Given the description of an element on the screen output the (x, y) to click on. 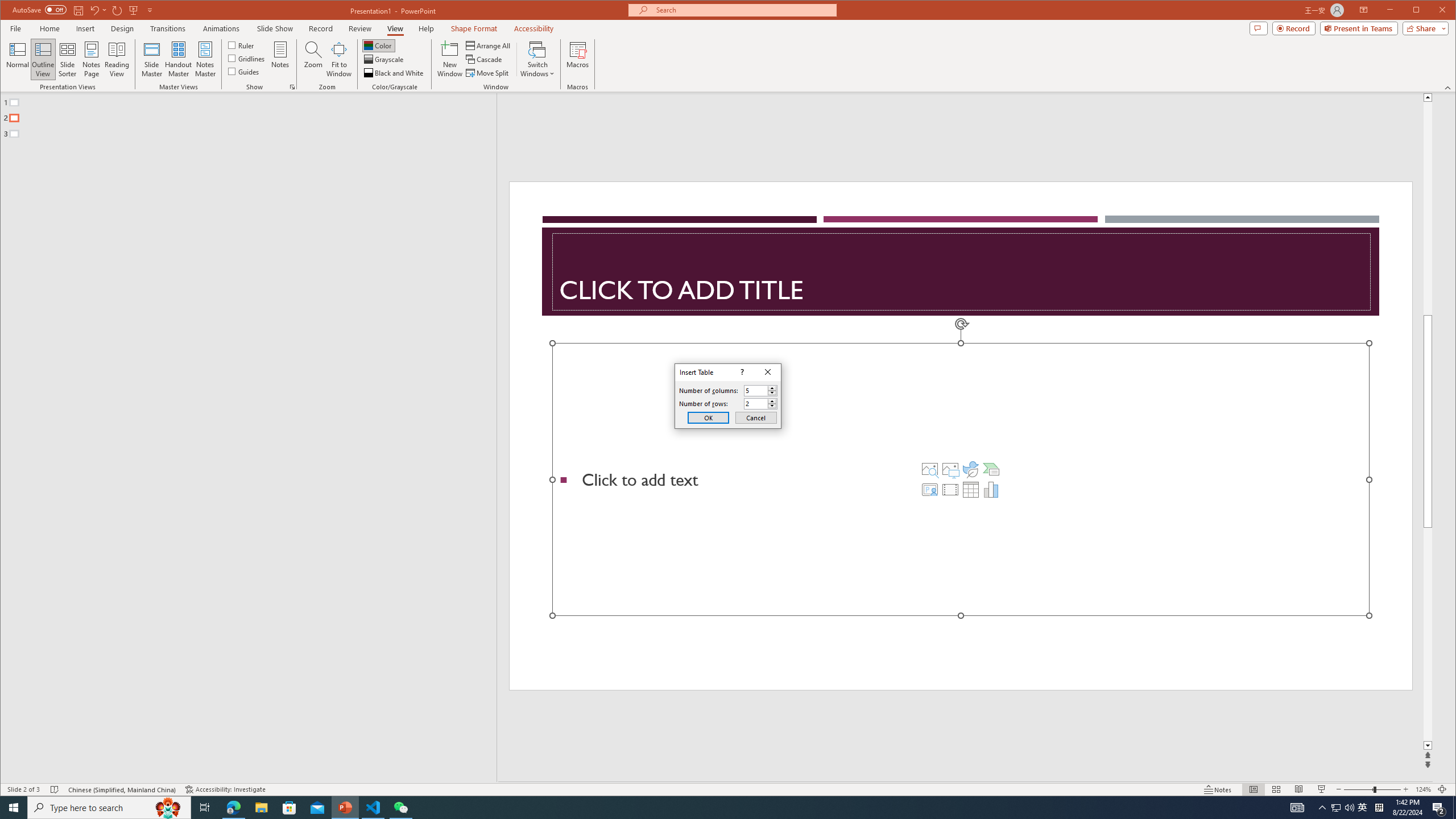
Task View (204, 807)
Rectangle (242, 436)
Black and White (1335, 807)
Macros (394, 72)
Insert Chart (576, 59)
Microsoft Edge - 1 running window (991, 489)
Move Split (233, 807)
